Given the description of an element on the screen output the (x, y) to click on. 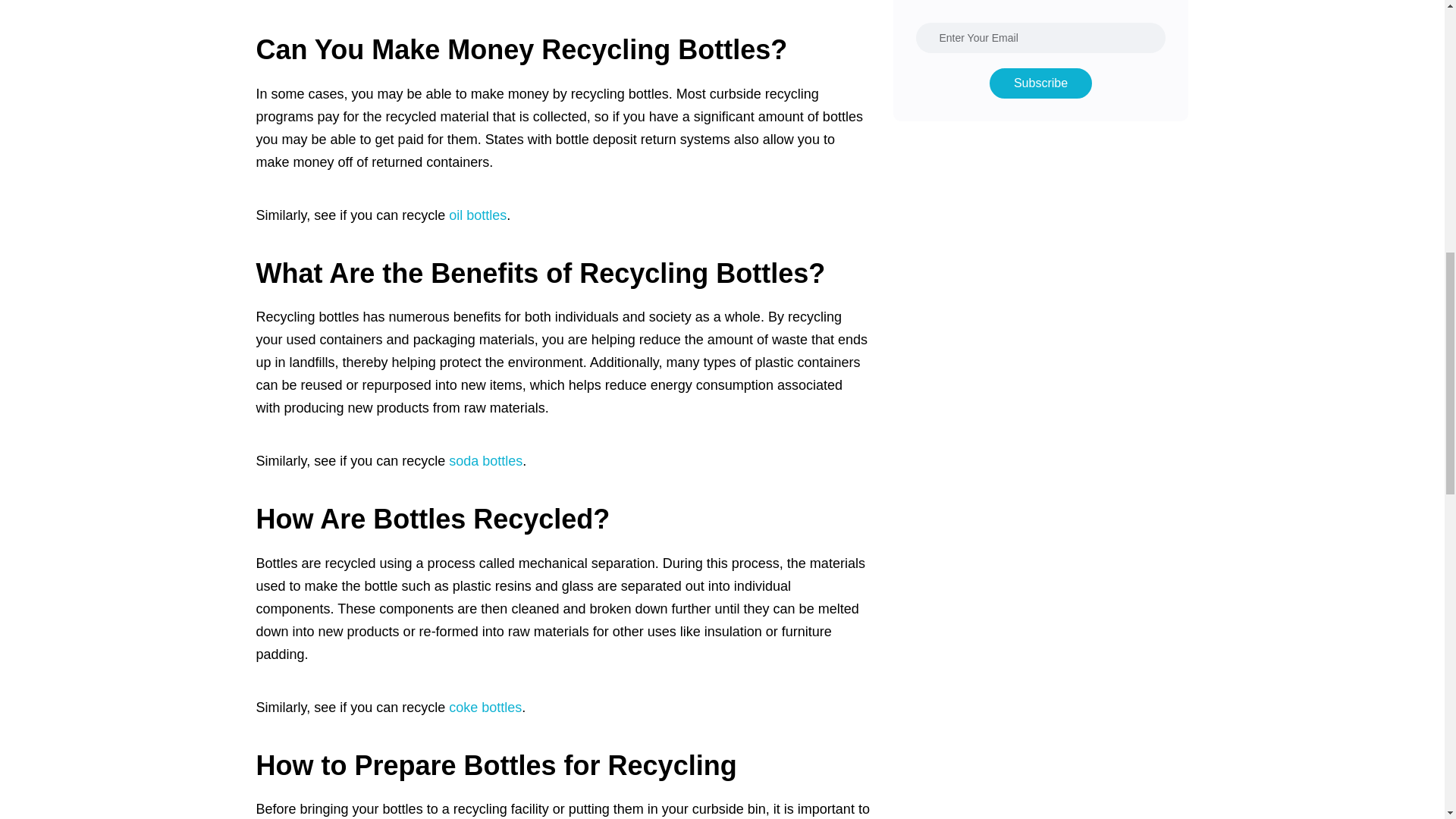
oil bottles (477, 215)
coke bottles (484, 707)
soda bottles (485, 460)
